Given the description of an element on the screen output the (x, y) to click on. 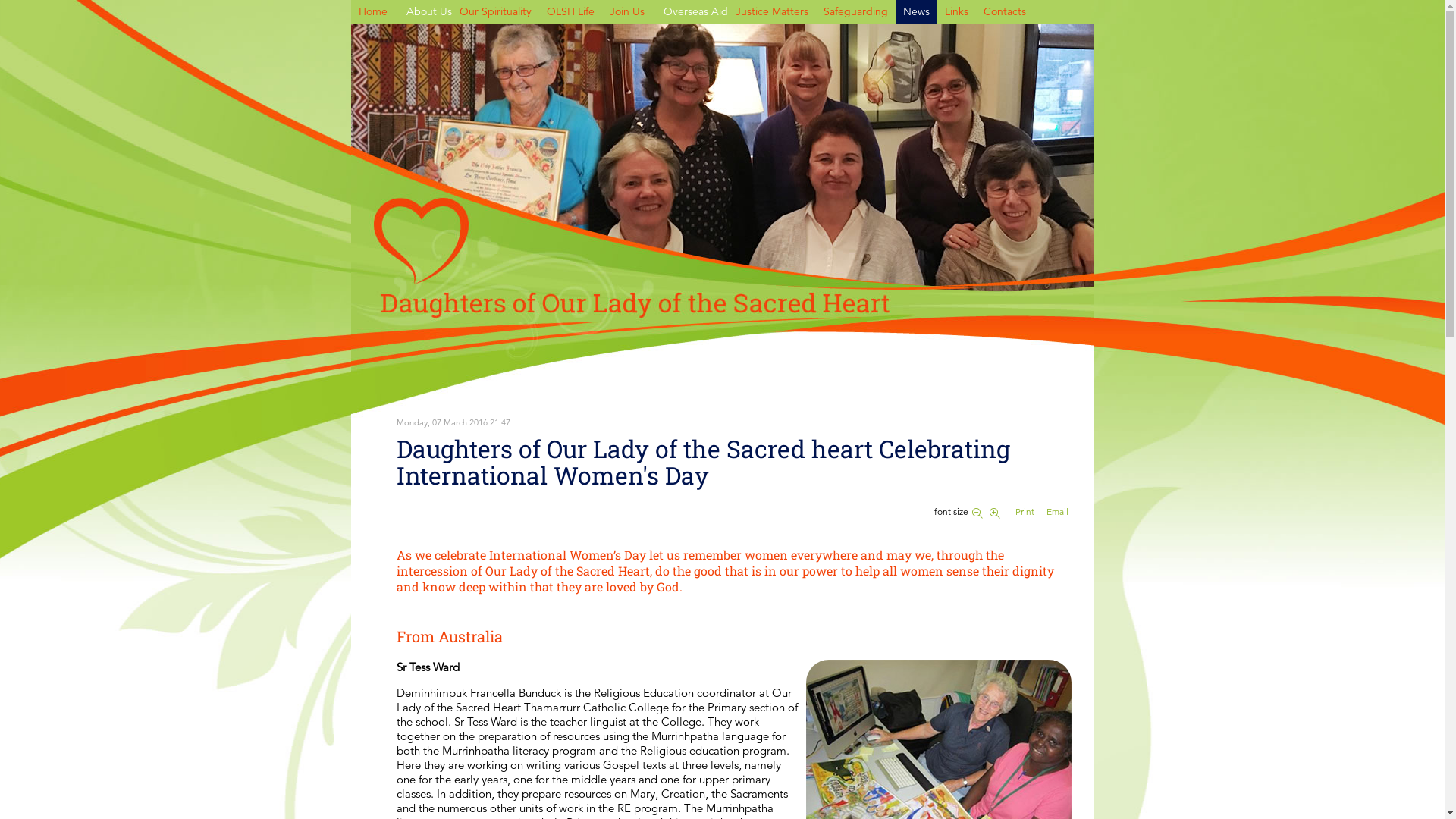
Justice Matters Element type: text (771, 11)
Our Spirituality
>open Element type: text (495, 11)
image Element type: hover (721, 157)
Email Element type: text (1057, 511)
Contacts Element type: text (1003, 11)
Home Element type: text (372, 11)
OLSH Life
>open Element type: text (569, 11)
Print Element type: text (1024, 511)
Safeguarding Element type: text (855, 11)
Links Element type: text (956, 11)
News Element type: text (915, 11)
Join Us Element type: text (627, 11)
